Given the description of an element on the screen output the (x, y) to click on. 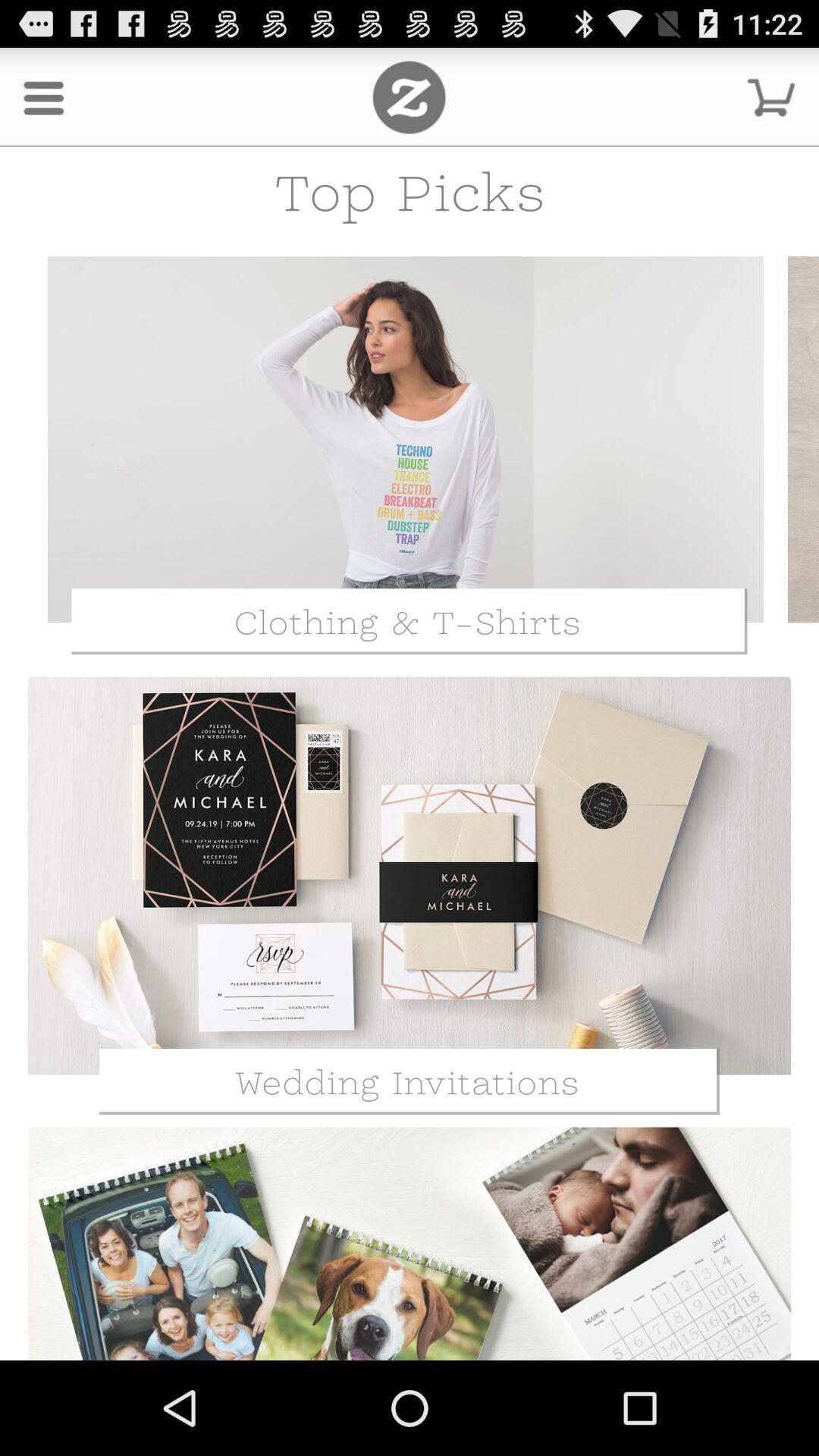
go to shopping cart (771, 97)
